Given the description of an element on the screen output the (x, y) to click on. 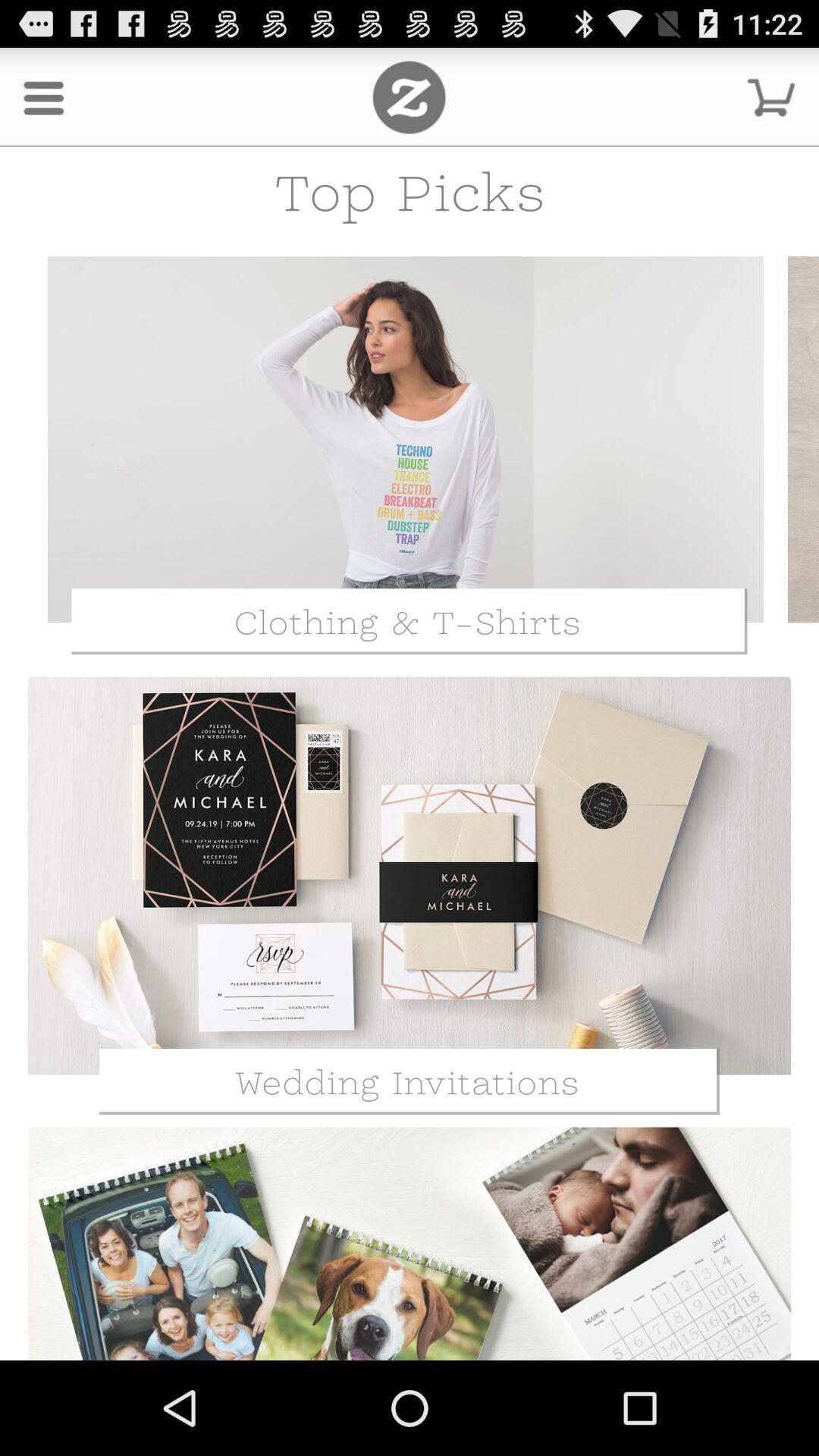
go to shopping cart (771, 97)
